Given the description of an element on the screen output the (x, y) to click on. 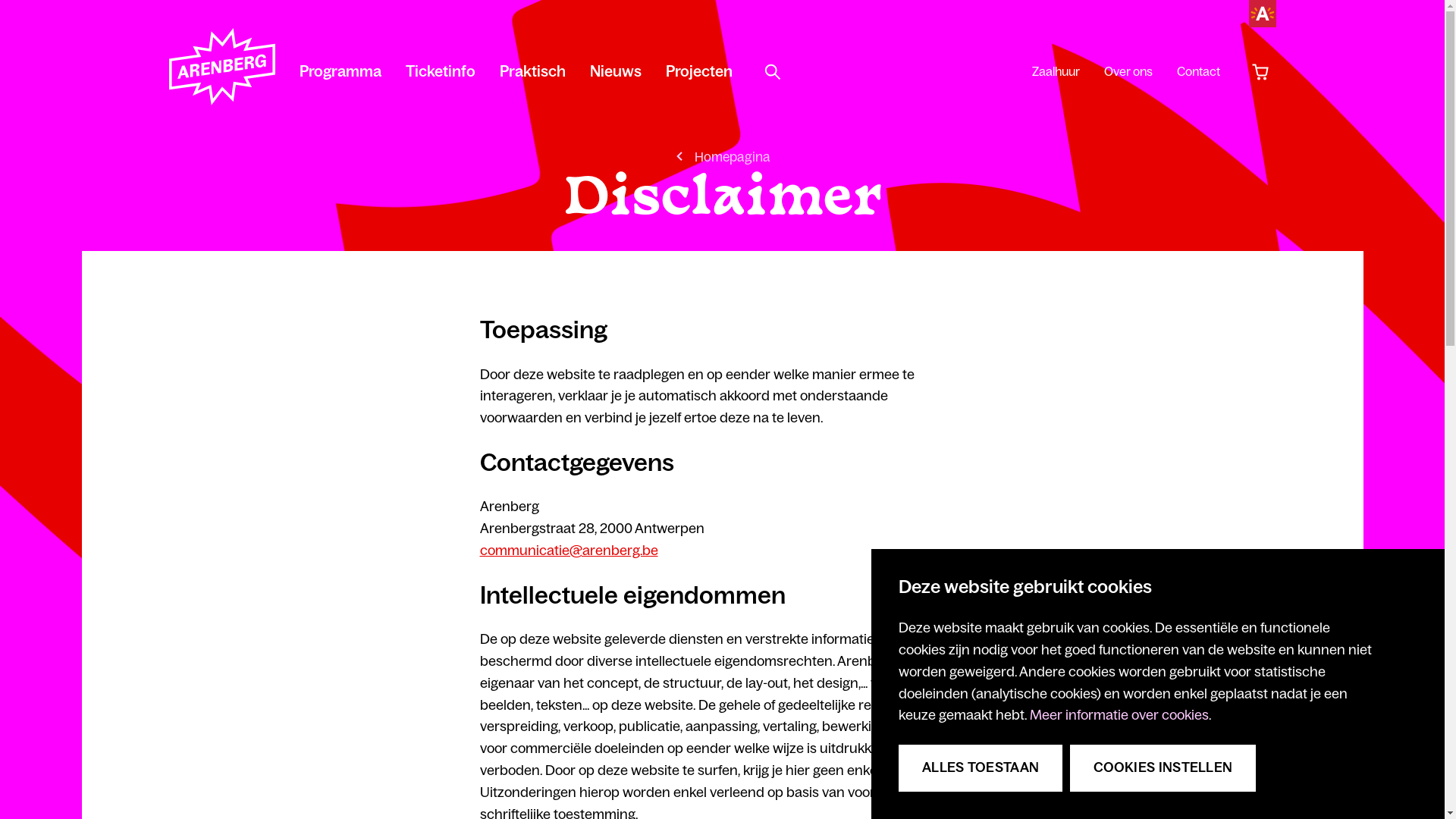
Ticketinfo Element type: text (439, 70)
ALLES TOESTAAN Element type: text (980, 767)
Projecten Element type: text (698, 70)
Homepagina Element type: text (722, 156)
COOKIES INSTELLEN Element type: text (1162, 767)
Programma Element type: text (339, 70)
Contact Element type: text (1198, 71)
Zaalhuur Element type: text (1055, 71)
Winkelmandje Element type: text (1259, 71)
Over ons Element type: text (1128, 71)
Nieuws Element type: text (615, 70)
communicatie@arenberg.be Element type: text (568, 550)
Praktisch Element type: text (531, 70)
Meer informatie over cookies Element type: text (1118, 714)
Zoeken Element type: text (772, 71)
